Given the description of an element on the screen output the (x, y) to click on. 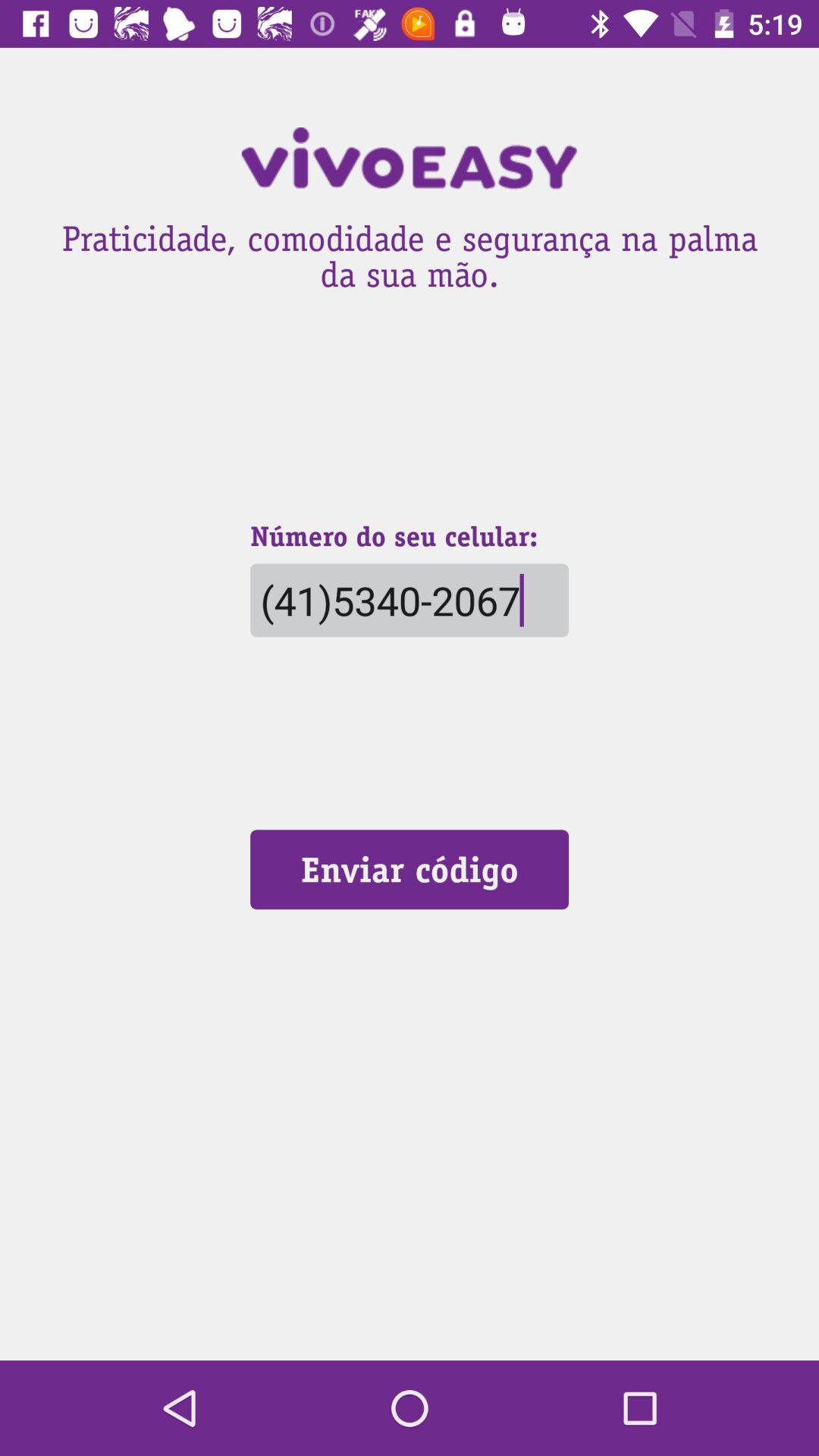
swipe to the (41)5340-2067 item (409, 600)
